Given the description of an element on the screen output the (x, y) to click on. 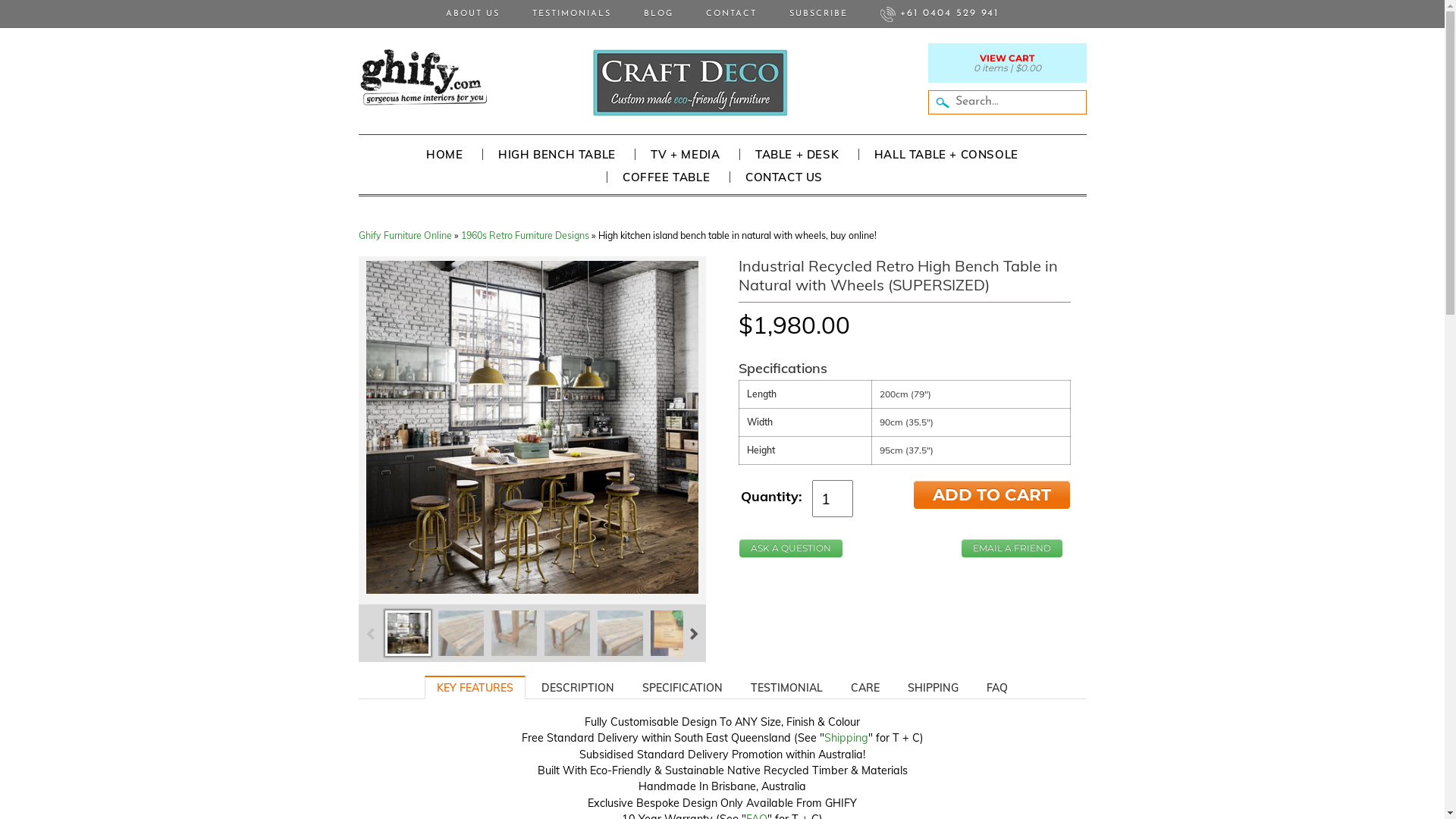
1960s Retro Furniture Designs Element type: text (525, 235)
SUBSCRIBE Element type: text (818, 14)
Ghify Furniture Online Element type: text (404, 235)
EMAIL A FRIEND Element type: text (1011, 548)
ASK A QUESTION Element type: text (790, 548)
TV + MEDIA Element type: text (684, 154)
Rustic Recycled Solid Timber Furniture Online Australia Element type: hover (421, 77)
VIEW CART
0 items | $0.00 Element type: text (1006, 62)
TESTIMONIALS Element type: text (571, 14)
TABLE + DESK Element type: text (796, 154)
Shipping Element type: text (845, 737)
COFFEE TABLE Element type: text (665, 176)
CONTACT Element type: text (730, 14)
ABOUT US Element type: text (472, 14)
HALL TABLE + CONSOLE Element type: text (945, 154)
ADD TO CART Element type: text (991, 493)
BLOG Element type: text (658, 14)
CONTACT US Element type: text (783, 176)
Subscribe Element type: text (712, 277)
HOME Element type: text (444, 154)
HIGH BENCH TABLE Element type: text (556, 154)
+61 0404 529 941 Element type: text (939, 13)
